Given the description of an element on the screen output the (x, y) to click on. 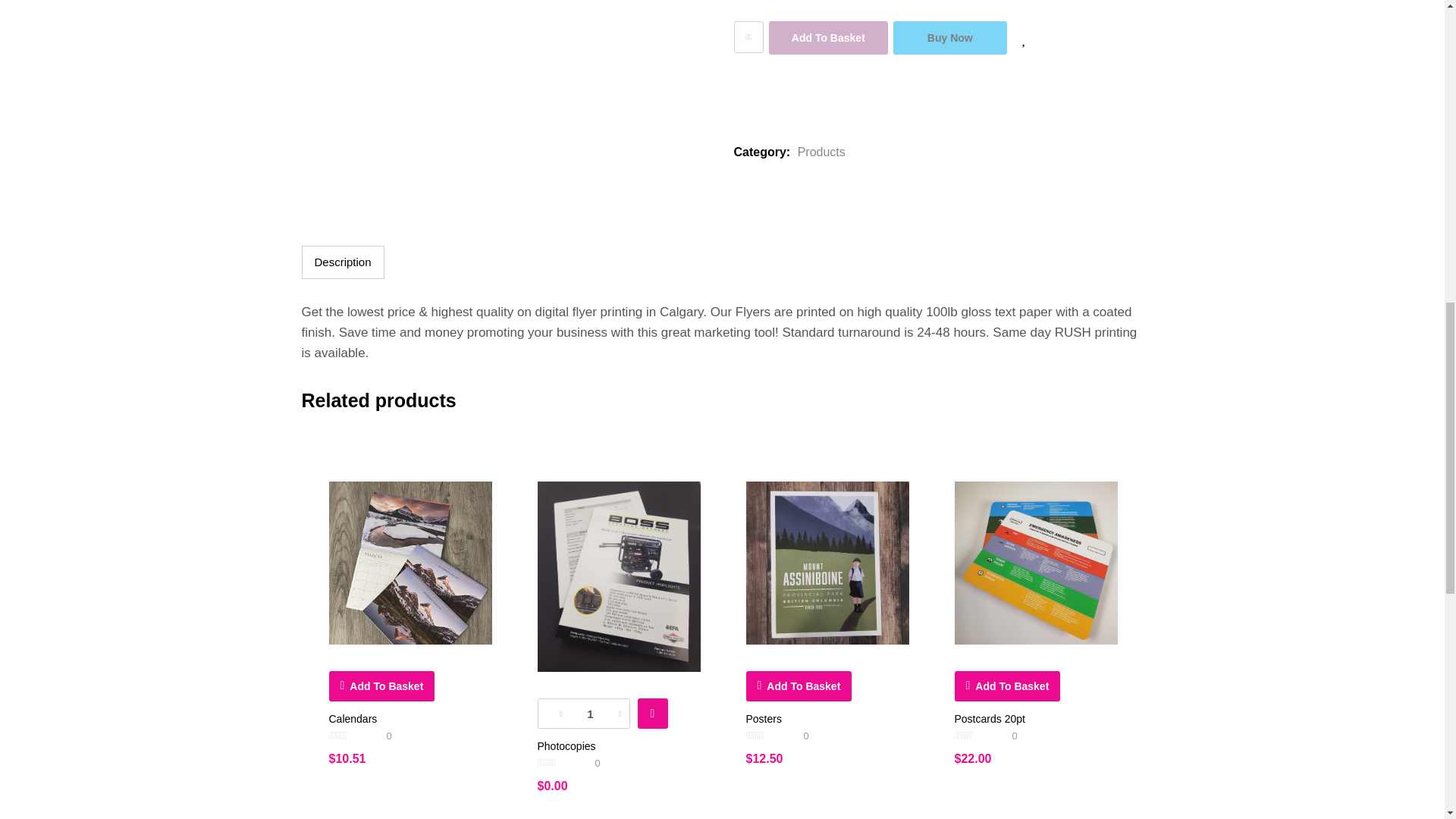
1 (590, 713)
PayPal (937, 85)
Calendars (410, 562)
